Given the description of an element on the screen output the (x, y) to click on. 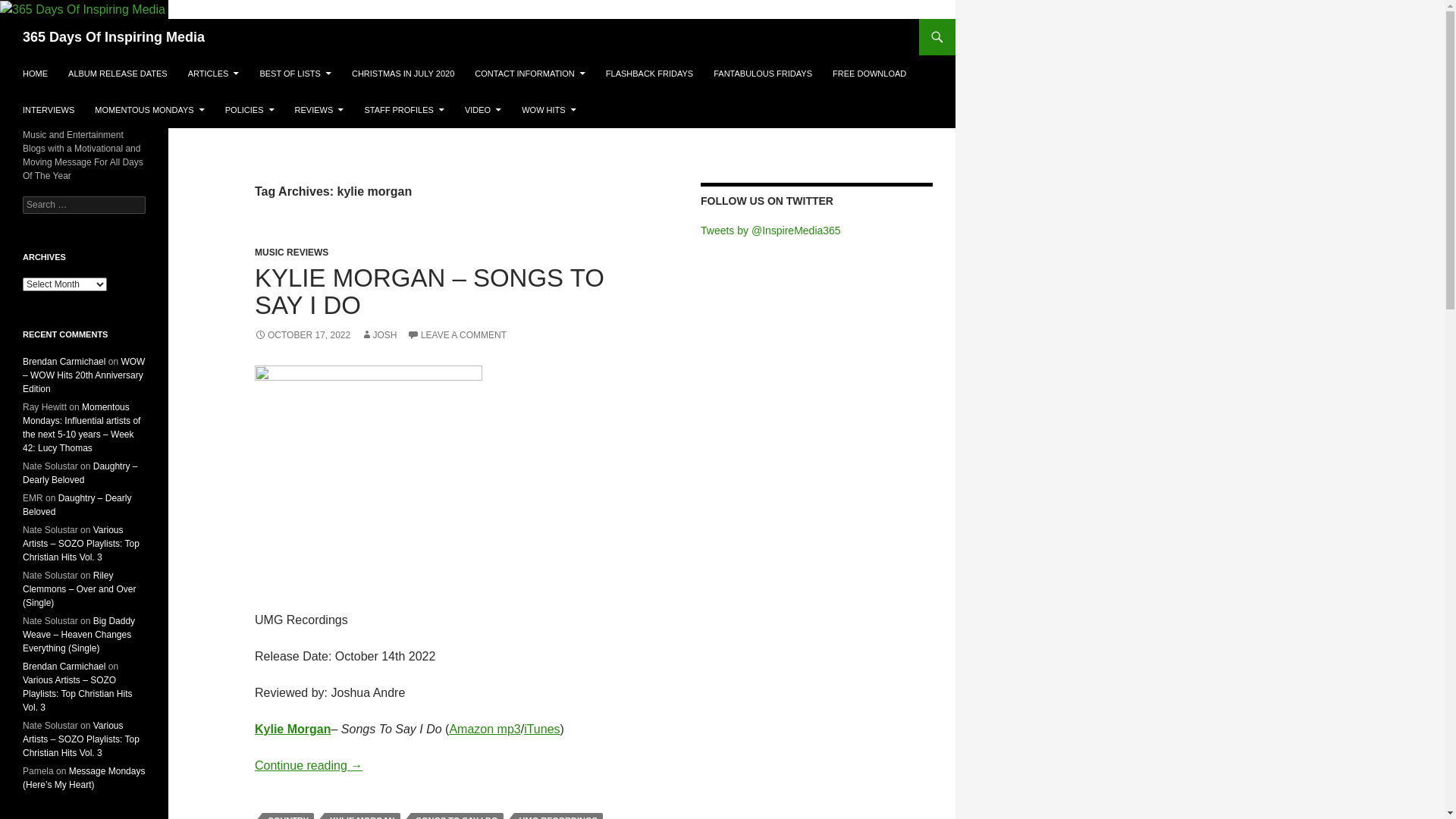
INTERVIEWS Element type: text (48, 109)
Brendan Carmichael Element type: text (63, 361)
Kylie Morgan Element type: text (292, 728)
MOMENTOUS MONDAYS Element type: text (149, 109)
SKIP TO CONTENT Element type: text (21, 54)
HOME Element type: text (34, 73)
WOW HITS Element type: text (548, 109)
VIDEO Element type: text (482, 109)
REVIEWS Element type: text (319, 109)
Search Element type: text (30, 8)
FLASHBACK FRIDAYS Element type: text (649, 73)
FANTABULOUS FRIDAYS Element type: text (762, 73)
OCTOBER 17, 2022 Element type: text (302, 334)
LEAVE A COMMENT Element type: text (456, 334)
Tweets by @InspireMedia365 Element type: text (770, 230)
STAFF PROFILES Element type: text (403, 109)
FREE DOWNLOAD Element type: text (869, 73)
CONTACT INFORMATION Element type: text (529, 73)
MUSIC REVIEWS Element type: text (291, 252)
Brendan Carmichael Element type: text (63, 666)
iTunes Element type: text (541, 728)
365 Days Of Inspiring Media Element type: text (113, 36)
CHRISTMAS IN JULY 2020 Element type: text (402, 73)
ALBUM RELEASE DATES Element type: text (117, 73)
Amazon mp3 Element type: text (484, 728)
JOSH Element type: text (378, 334)
ARTICLES Element type: text (213, 73)
Search Element type: text (3, 18)
BEST OF LISTS Element type: text (295, 73)
POLICIES Element type: text (249, 109)
